Given the description of an element on the screen output the (x, y) to click on. 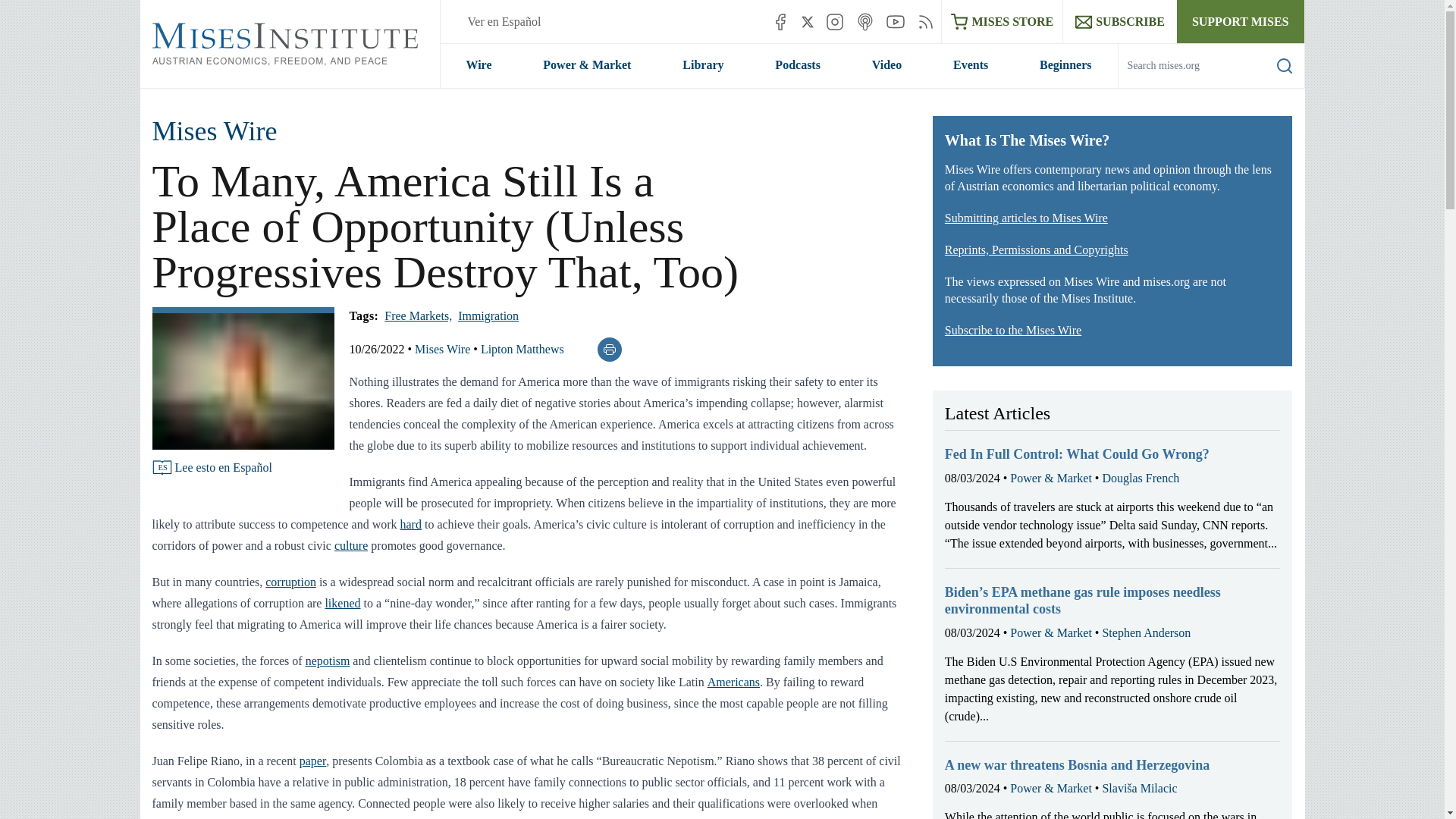
Mises itunes (865, 21)
Mises Youtube (895, 21)
Beginners (1064, 65)
SUPPORT MISES (1240, 21)
Podcasts (797, 65)
Library (702, 65)
Submit (1272, 87)
Mises RSS feed (925, 21)
Video (886, 65)
